Given the description of an element on the screen output the (x, y) to click on. 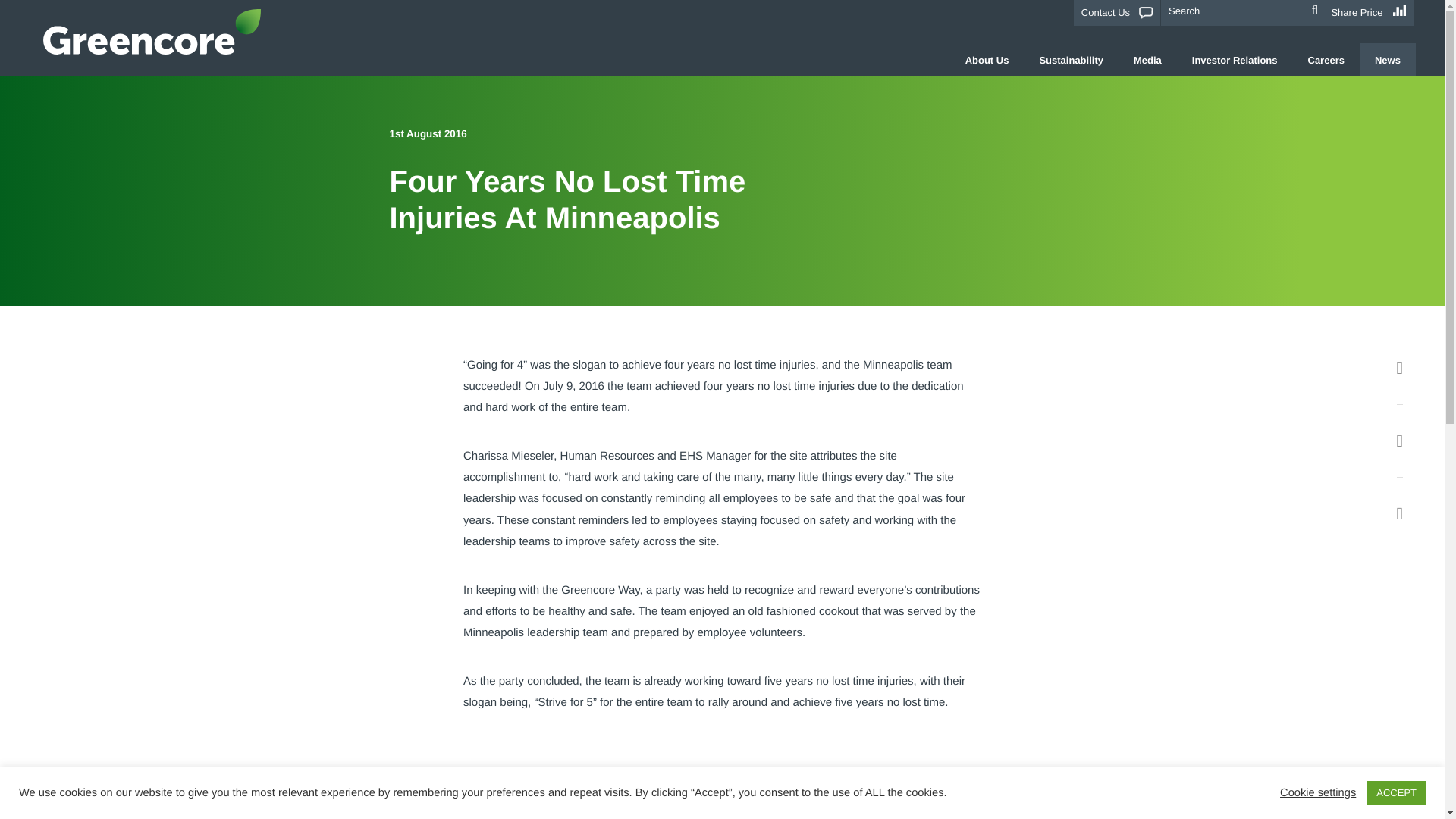
Return to Greencore homepage (152, 31)
Share Price (1367, 12)
Sustainability (1070, 59)
Search (1315, 11)
About Us (987, 59)
Greencore (152, 31)
Media (1147, 59)
Careers (1325, 59)
Investor Relations (1234, 59)
Contact Us (1116, 13)
